Given the description of an element on the screen output the (x, y) to click on. 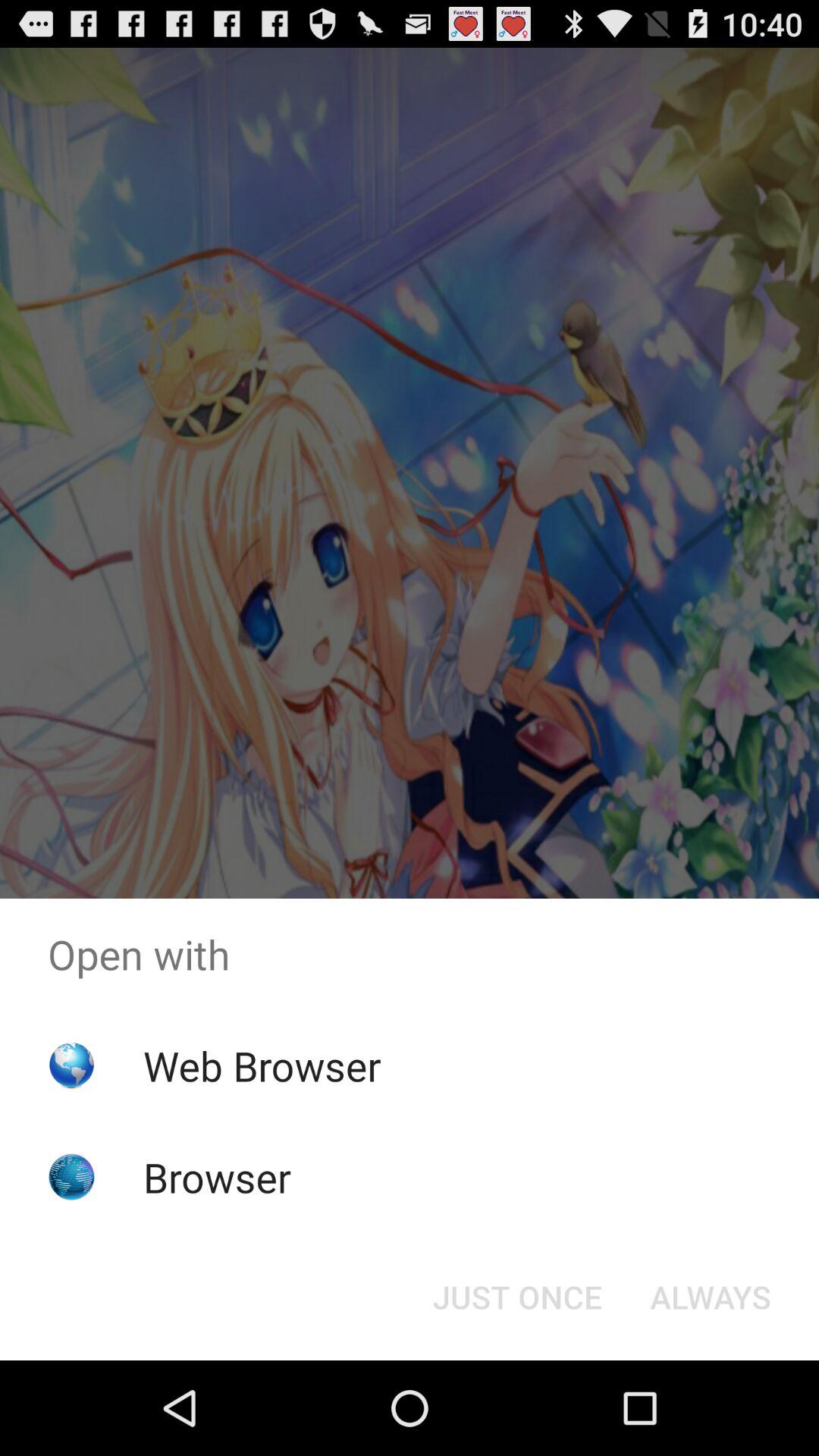
open item below open with app (710, 1296)
